Given the description of an element on the screen output the (x, y) to click on. 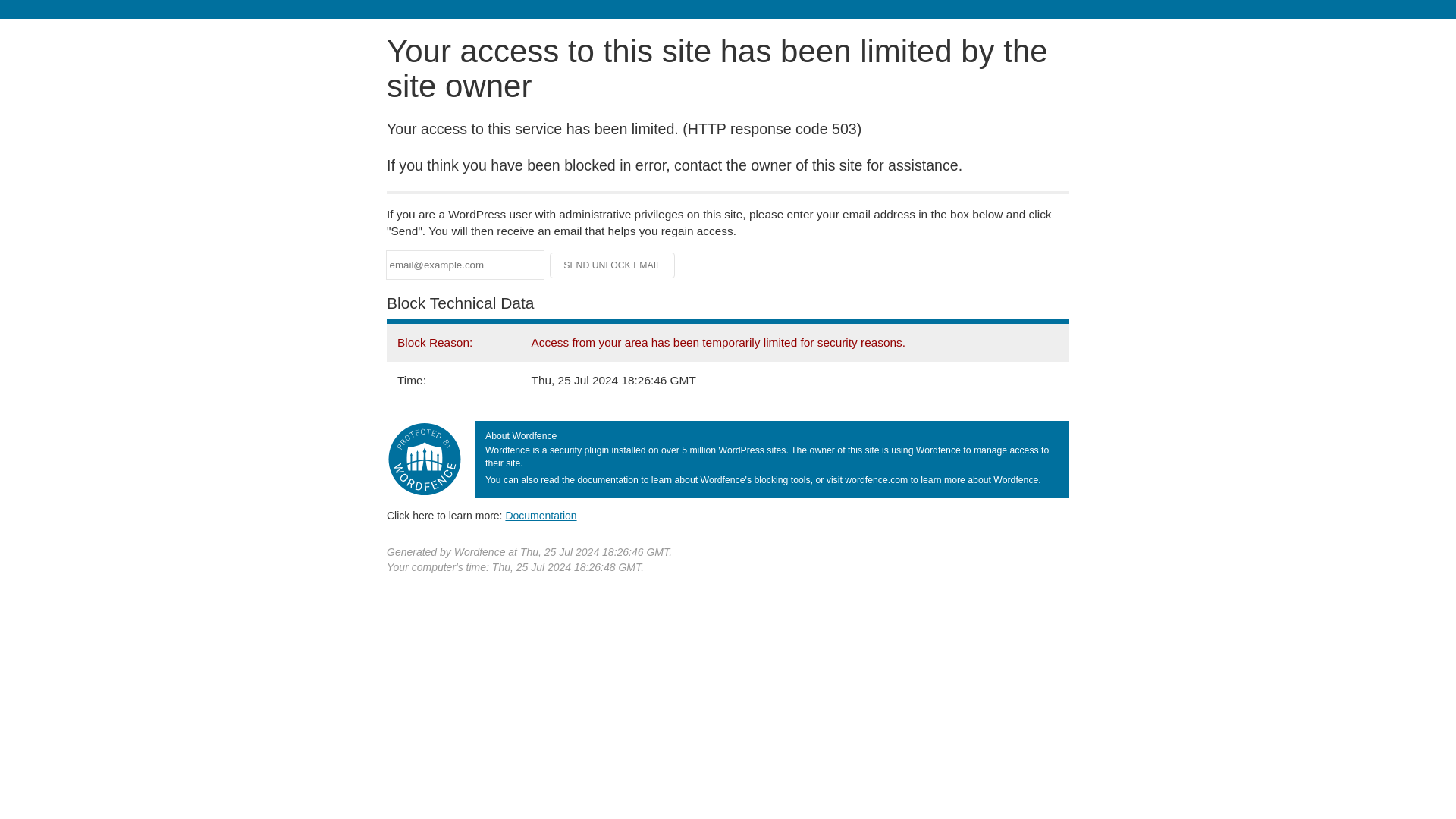
Documentation (540, 515)
Send Unlock Email (612, 265)
Send Unlock Email (612, 265)
